Given the description of an element on the screen output the (x, y) to click on. 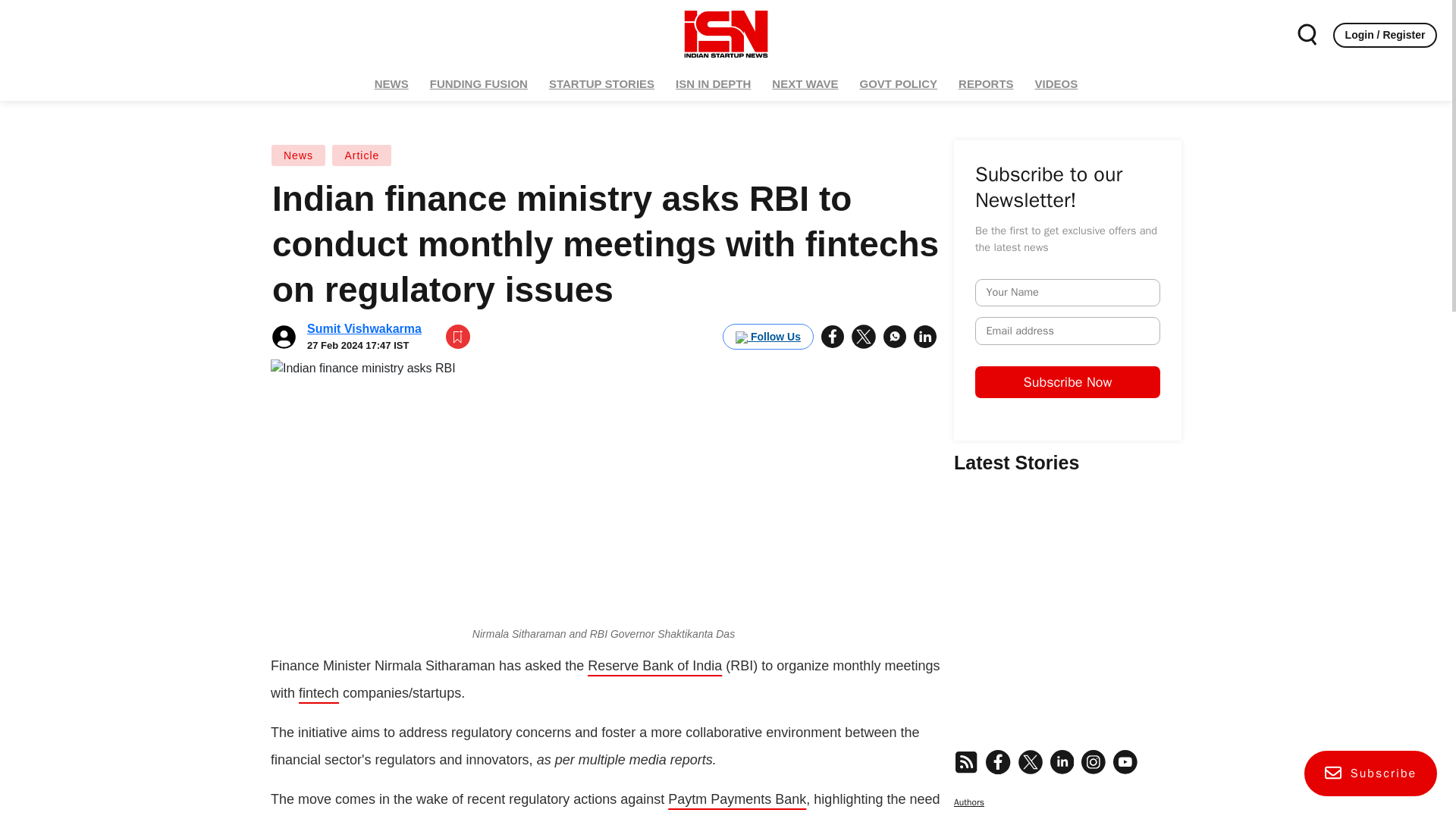
STARTUP STORIES (601, 83)
Reserve Bank of India (655, 665)
Subscribe Now (1185, 424)
ISN IN DEPTH (712, 83)
fintech (318, 693)
Sumit Vishwakarma (364, 328)
Authors (1066, 780)
Paytm Payments Bank (737, 798)
Follow Us (767, 336)
News (298, 155)
Article (361, 155)
REPORTS (986, 83)
GOVT POLICY (898, 83)
NEWS (391, 83)
VIDEOS (1056, 83)
